Given the description of an element on the screen output the (x, y) to click on. 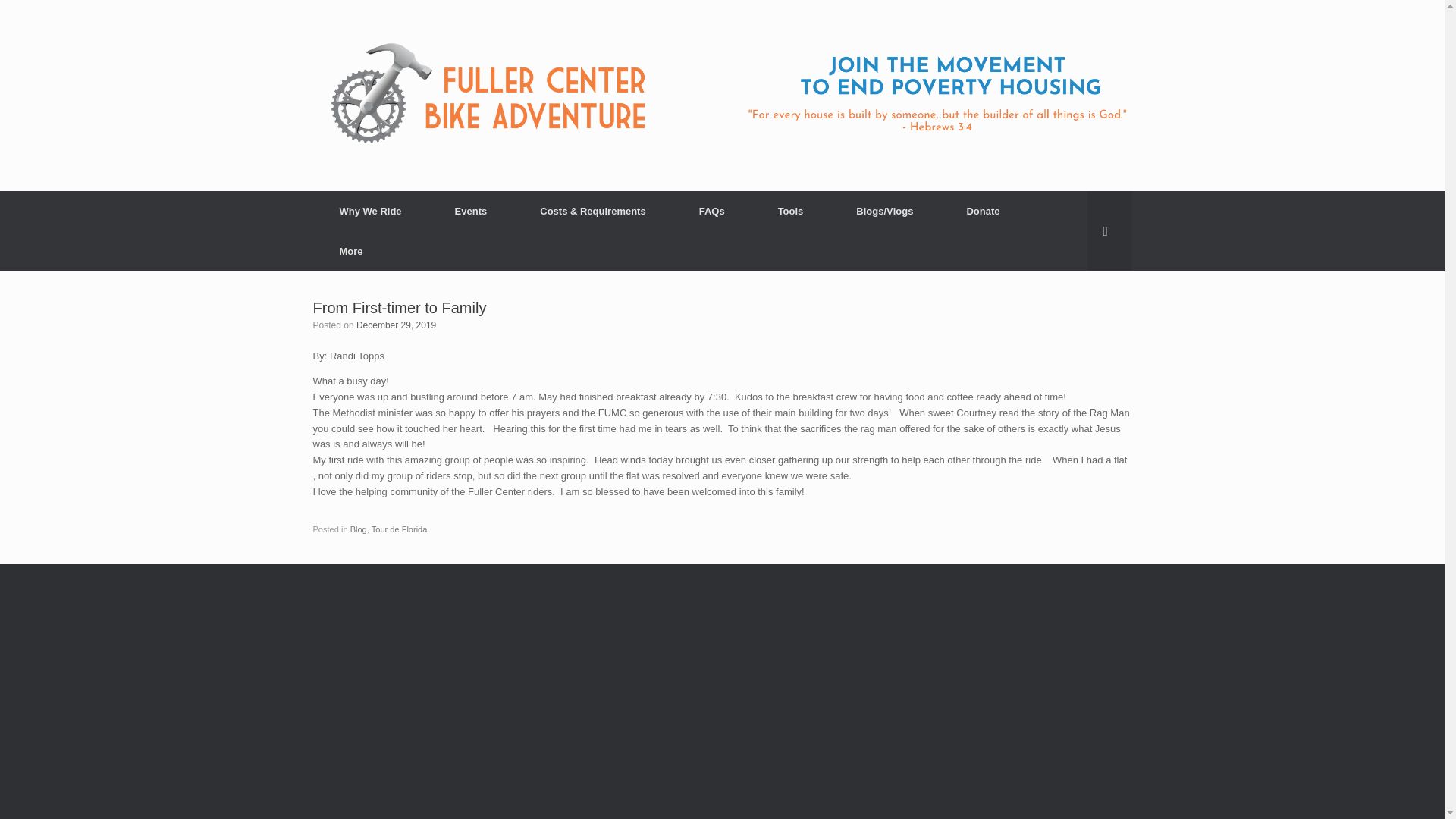
Events (470, 210)
Blog (358, 528)
Donate (982, 210)
FAQs (711, 210)
Why We Ride (370, 210)
Tools (790, 210)
12:17 pm (395, 325)
More (350, 250)
December 29, 2019 (395, 325)
Fuller Center Bike Adventure (722, 95)
